Given the description of an element on the screen output the (x, y) to click on. 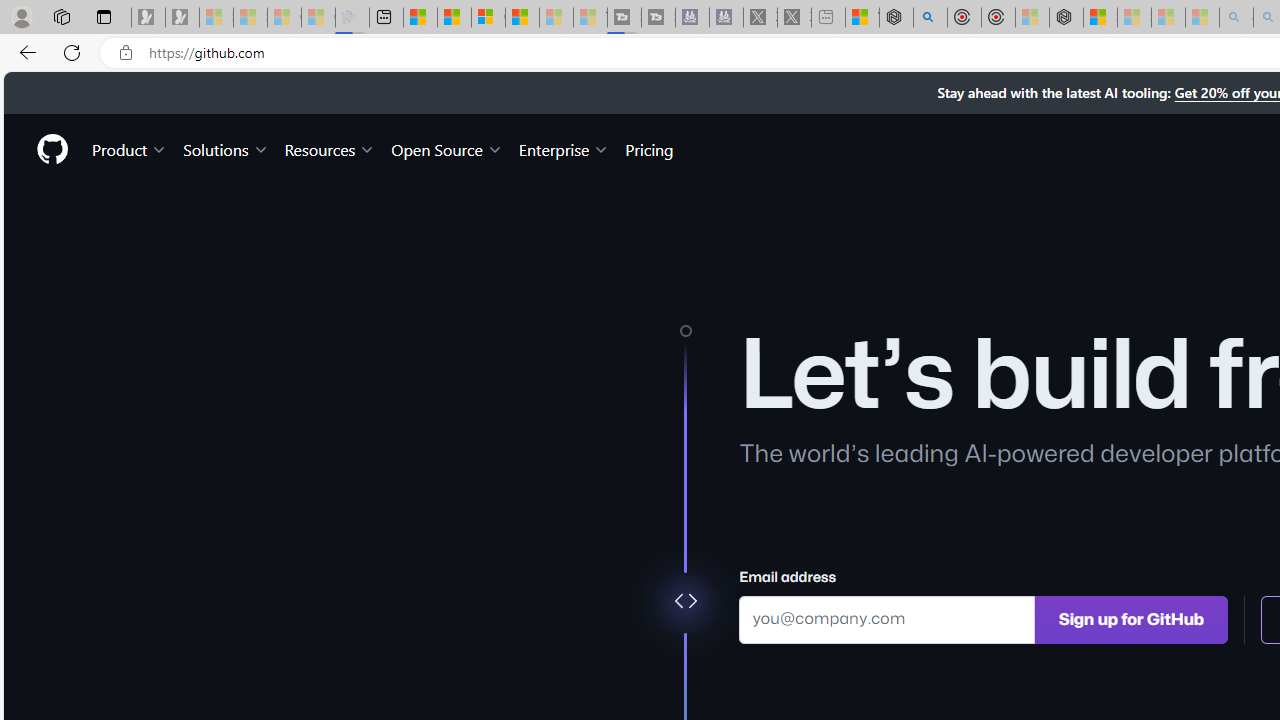
Product (130, 148)
Email address (886, 618)
Homepage (51, 149)
Pricing (649, 148)
Product (130, 148)
Enterprise (563, 148)
poe - Search (930, 17)
